Given the description of an element on the screen output the (x, y) to click on. 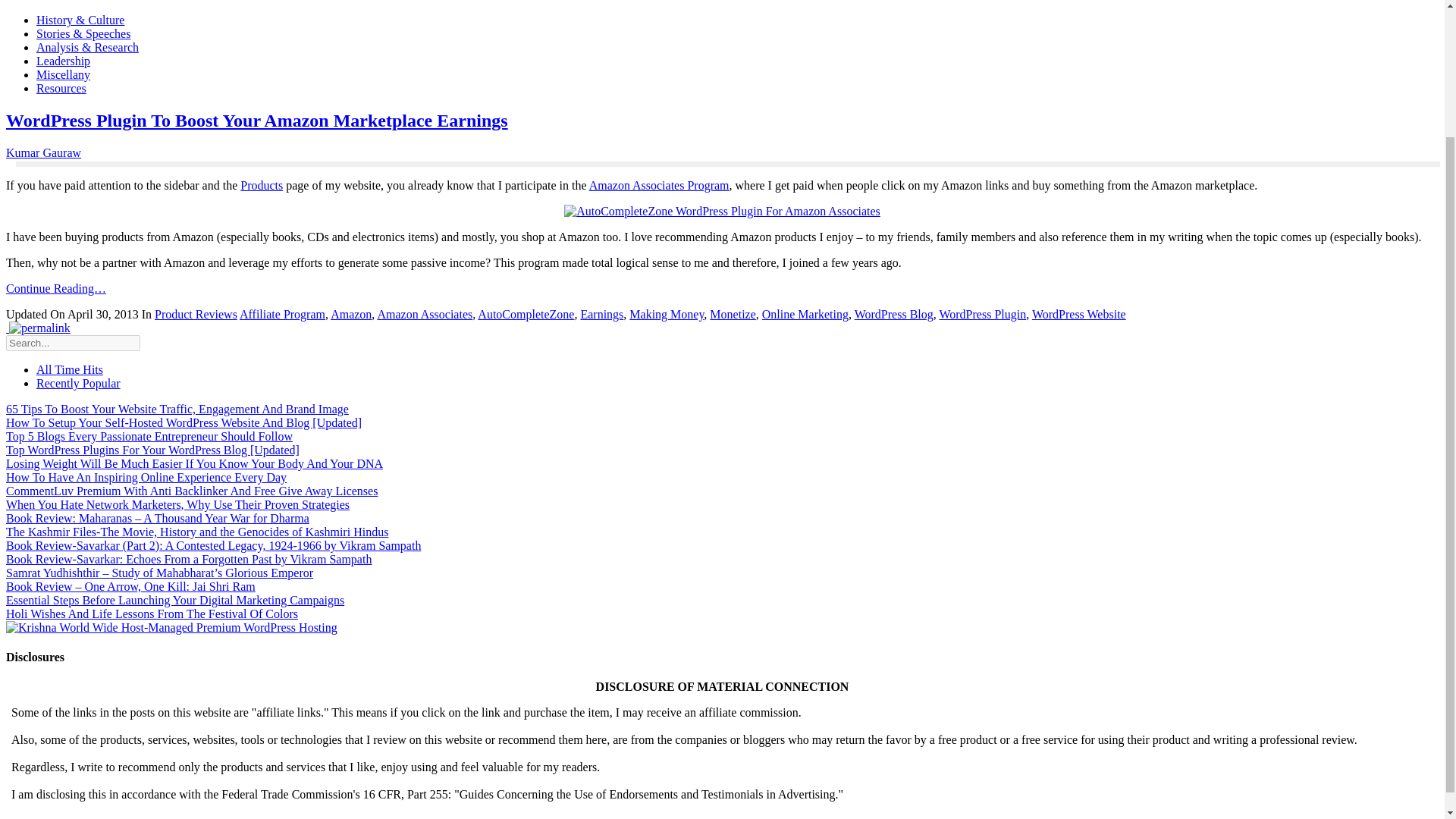
Amazon Associates (424, 314)
Product Reviews (195, 314)
Resources (60, 88)
Miscellany (63, 74)
WordPress Plugin To Boost Your Amazon Marketplace Earnings (256, 120)
Online Marketing (804, 314)
Earnings (601, 314)
All Time Hits (69, 369)
WordPress Website (1078, 314)
Kumar Gauraw (43, 152)
Kumar Gauraw (43, 152)
WordPress Plugin (982, 314)
Affiliate Program (282, 314)
WordPress Blog (893, 314)
